Given the description of an element on the screen output the (x, y) to click on. 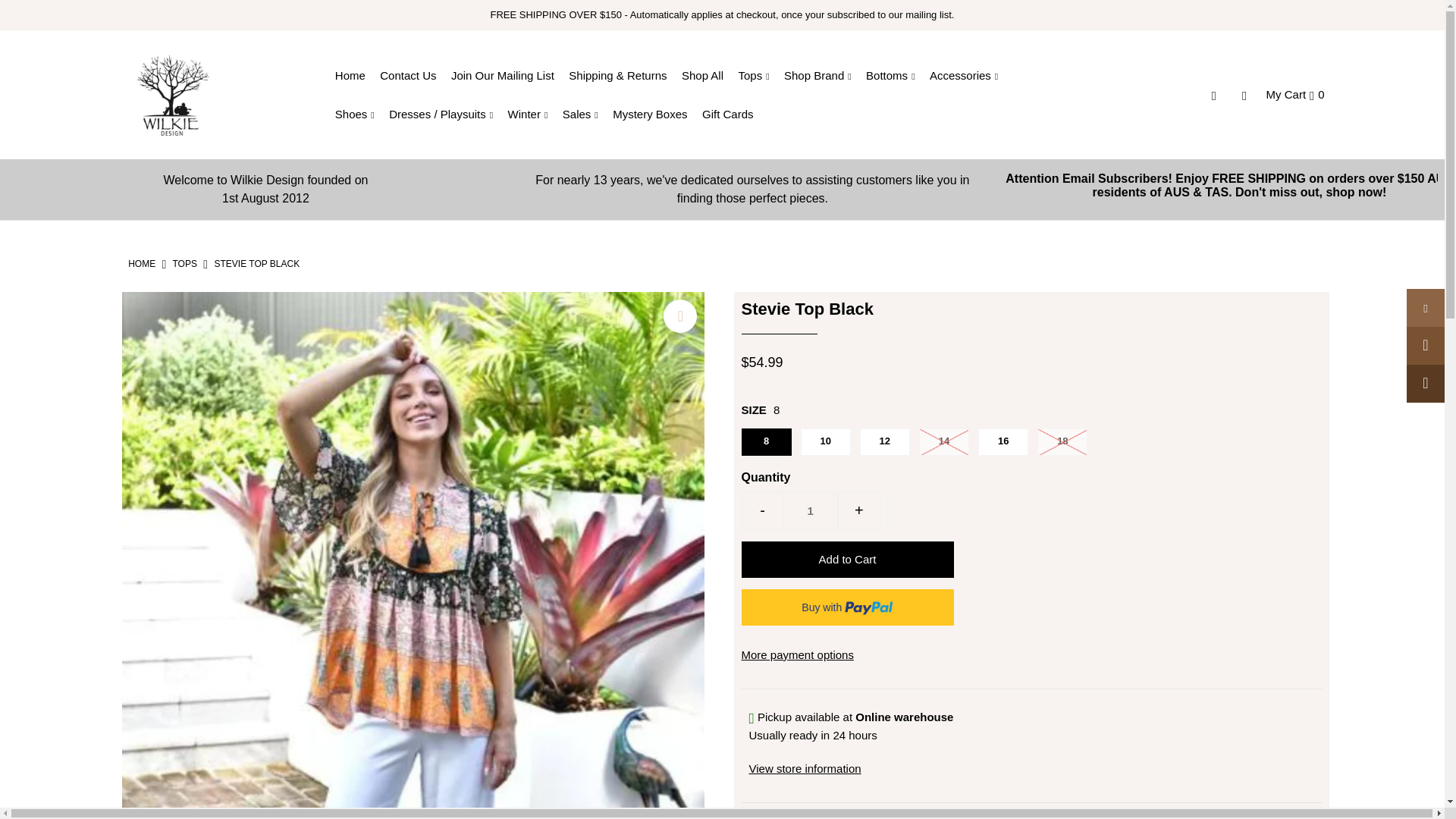
Contact Us (413, 74)
Home (264, 189)
Add to Cart (355, 74)
Share on Facebook (847, 559)
Tops (1425, 307)
Join Our Mailing List (183, 263)
Tops (508, 74)
1 (759, 74)
Home (810, 510)
